Given the description of an element on the screen output the (x, y) to click on. 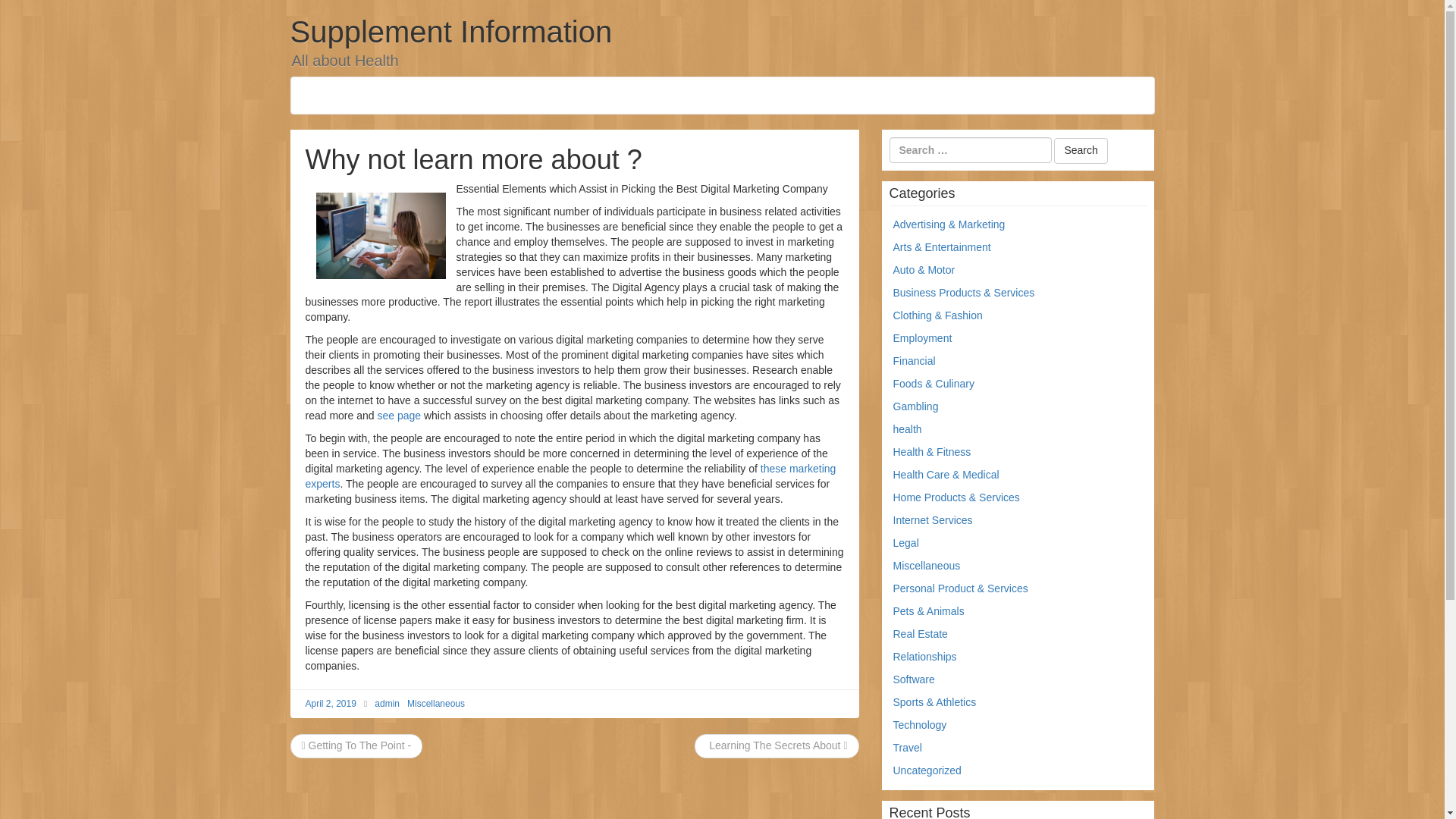
Miscellaneous (926, 565)
April 2, 2019 (329, 703)
Travel (907, 747)
Search (1080, 150)
Employment (922, 337)
Supplement Information (450, 31)
health (907, 428)
Search (1080, 150)
Miscellaneous (435, 703)
see page (398, 415)
Technology (920, 725)
 Getting To The Point - (356, 745)
Supplement Information (450, 31)
these marketing experts (569, 475)
admin (386, 703)
